Given the description of an element on the screen output the (x, y) to click on. 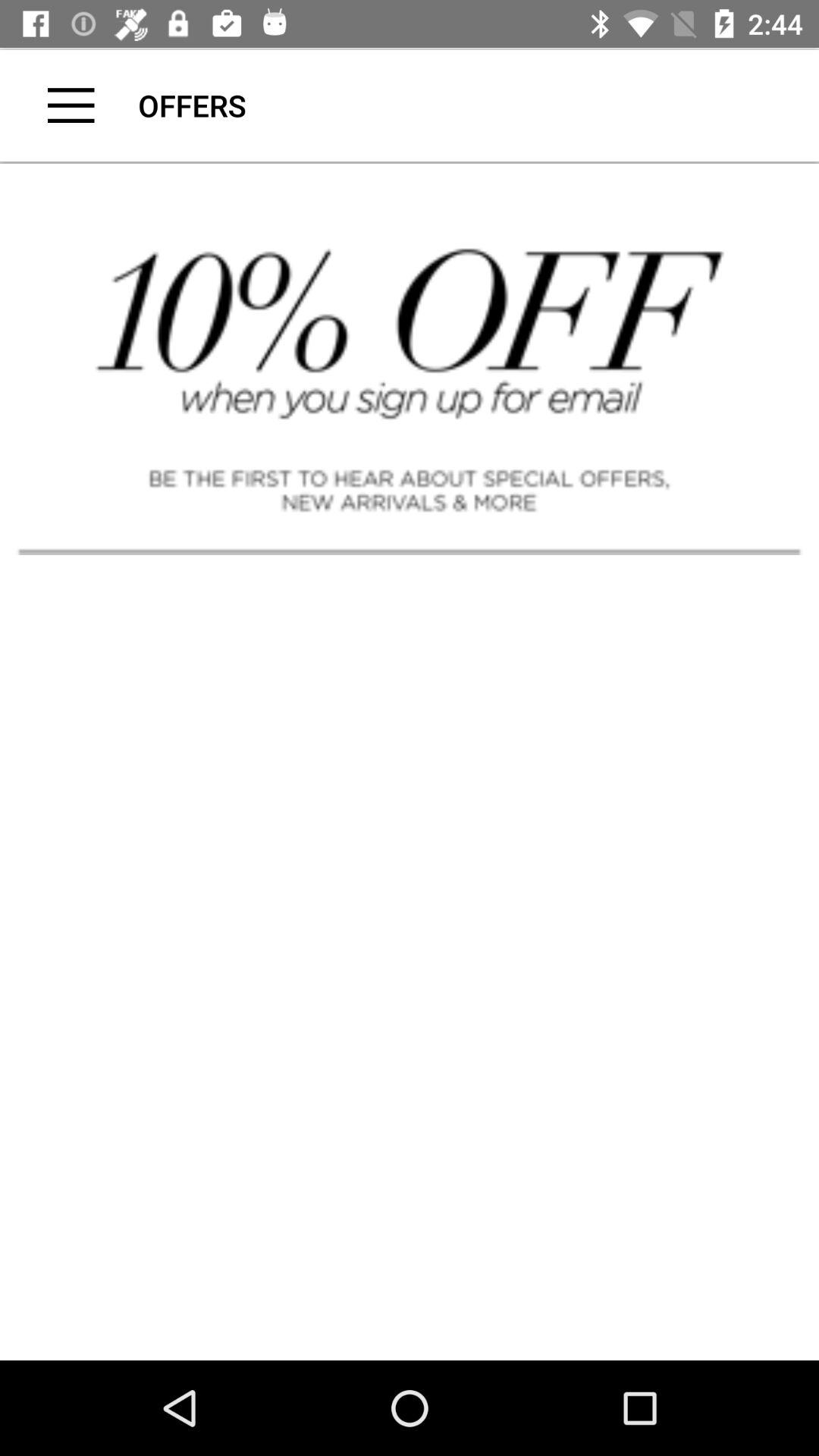
enlist button (70, 105)
